Given the description of an element on the screen output the (x, y) to click on. 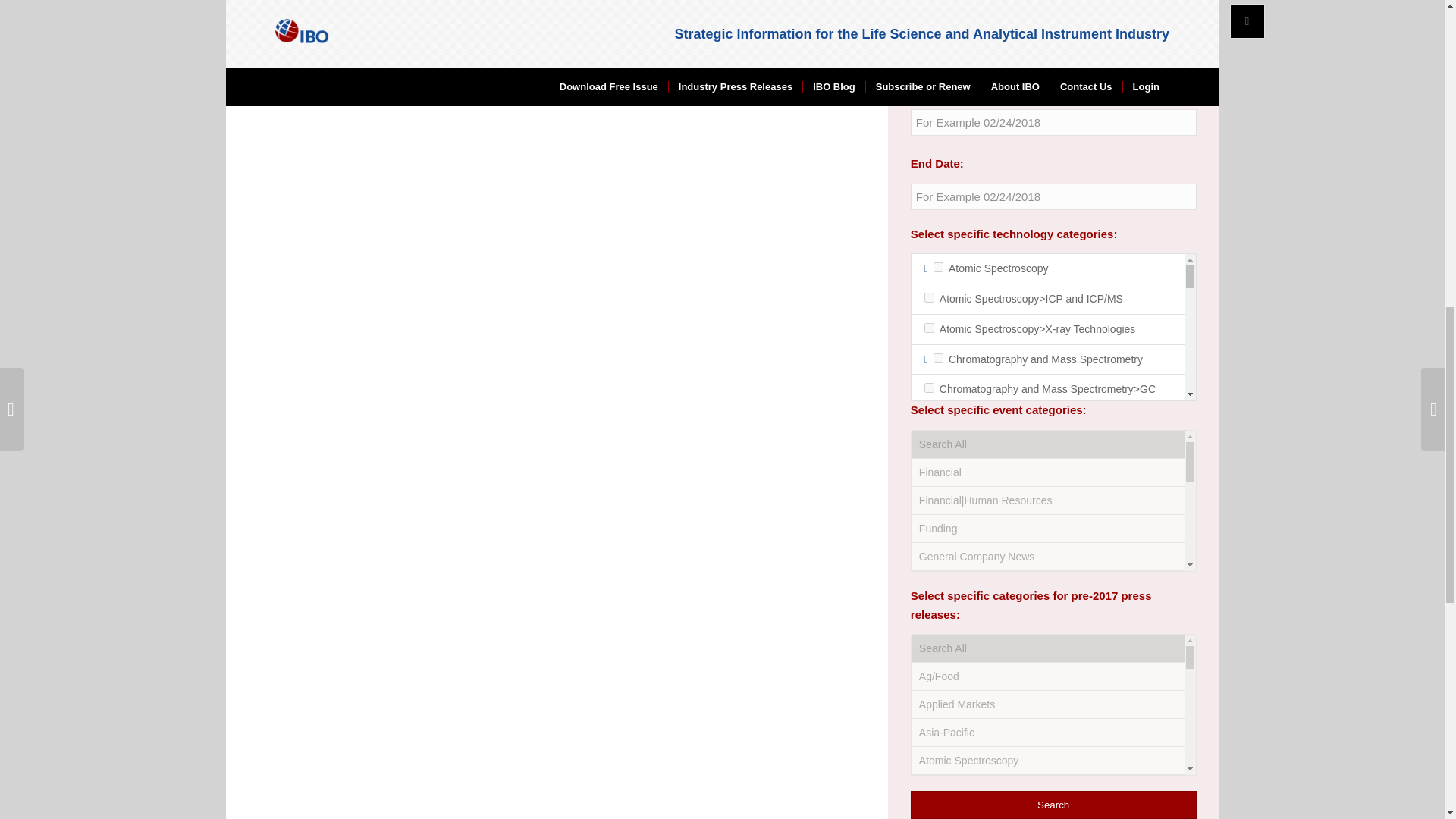
atomic-spectroscopy (938, 266)
chromatography-and-mass-spectrometrygc (929, 388)
chromatography-and-mass-spectrometry (938, 357)
atomic-spectroscopyicp-and-icp-ms (929, 297)
general-laboratory-productsconsumables (929, 723)
general-laboratory-products (938, 692)
